Given the description of an element on the screen output the (x, y) to click on. 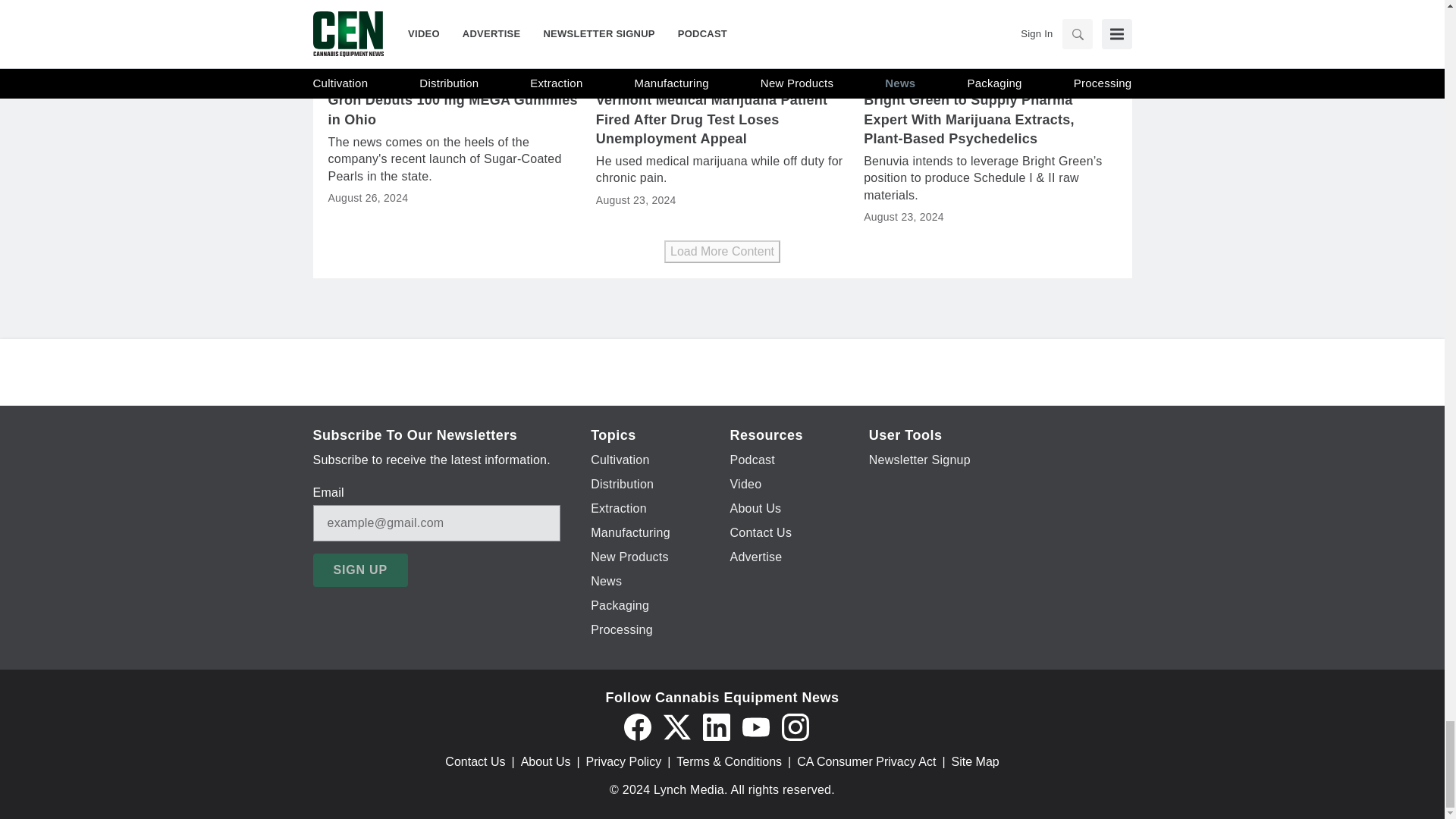
YouTube icon (754, 727)
Twitter X icon (676, 727)
Instagram icon (794, 727)
Facebook icon (636, 727)
LinkedIn icon (715, 727)
